Given the description of an element on the screen output the (x, y) to click on. 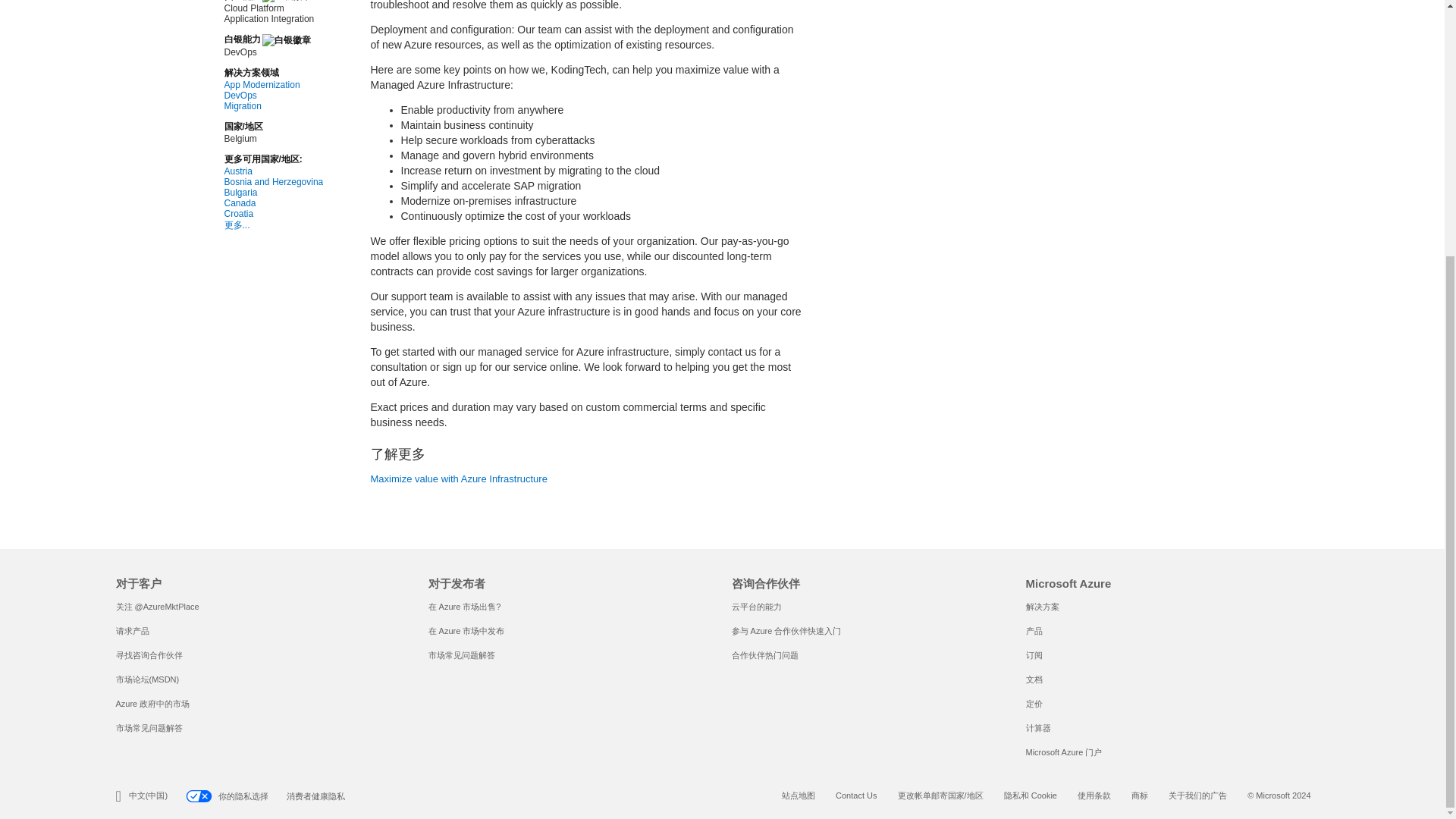
Canada (273, 203)
Croatia (273, 213)
Bosnia and Herzegovina (273, 181)
Bulgaria (273, 192)
App Modernization (273, 84)
DevOps (273, 95)
Migration (273, 105)
Austria (273, 171)
